Given the description of an element on the screen output the (x, y) to click on. 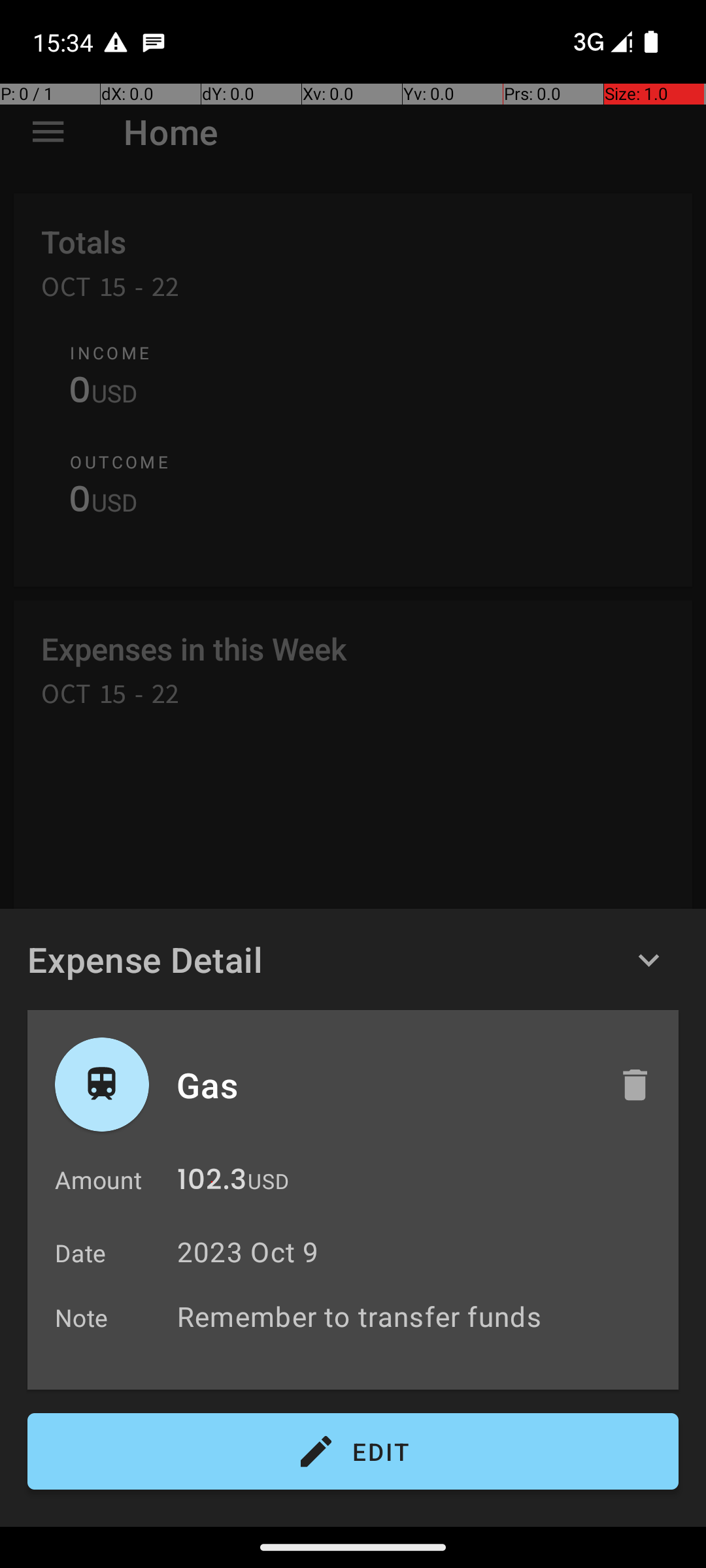
Gas Element type: android.widget.TextView (383, 1084)
102.3 Element type: android.widget.TextView (211, 1182)
2023 Oct 9 Element type: android.widget.TextView (247, 1251)
Remember to transfer funds Element type: android.widget.TextView (420, 1315)
